Given the description of an element on the screen output the (x, y) to click on. 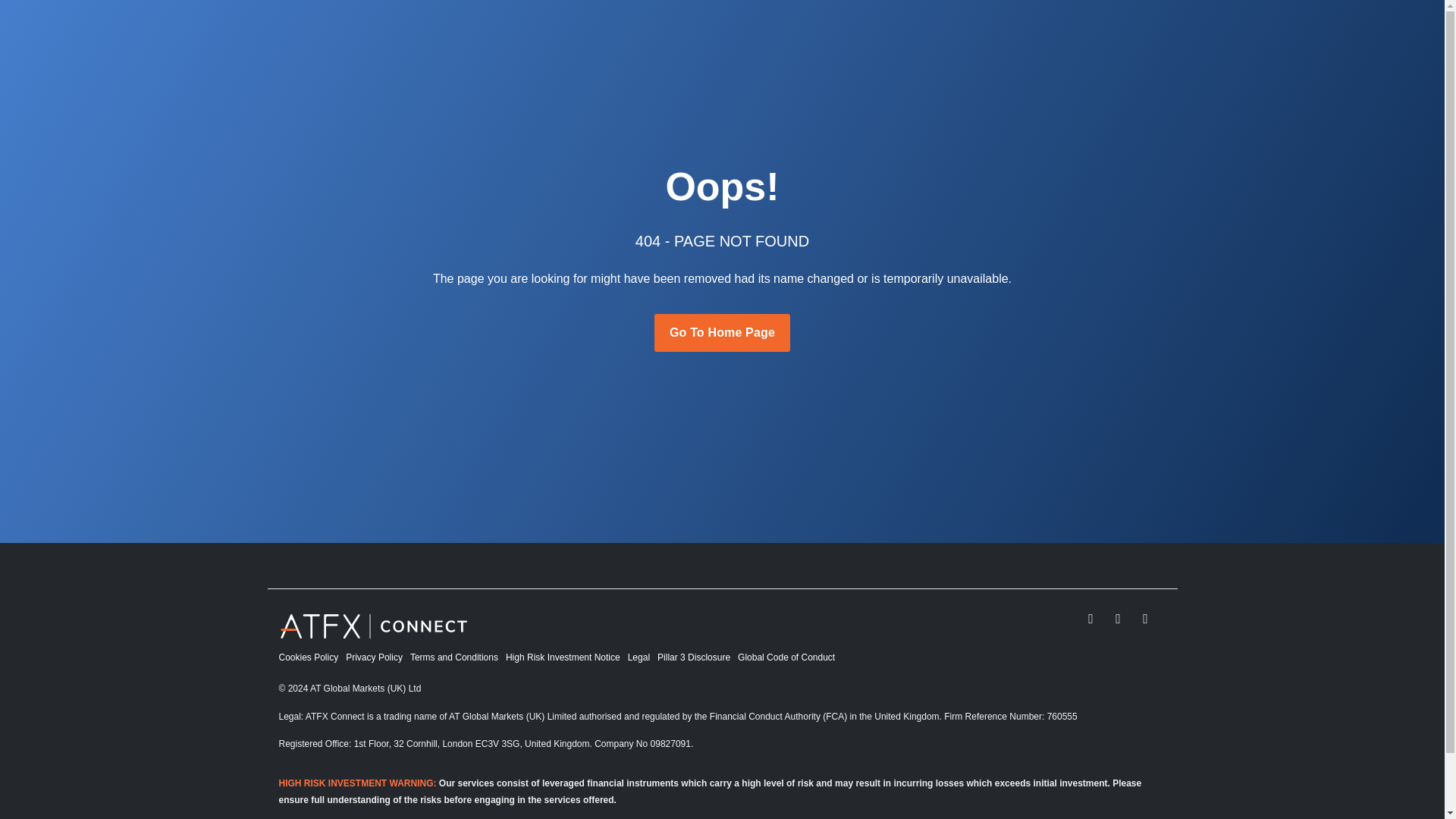
Cookies Policy (312, 657)
Privacy Policy (378, 657)
Legal (642, 657)
Global Code of Conduct (790, 657)
Terms and Conditions (457, 657)
Pillar 3 Disclosure (698, 657)
Go To Home Page (721, 332)
High Risk Investment Notice (566, 657)
